Given the description of an element on the screen output the (x, y) to click on. 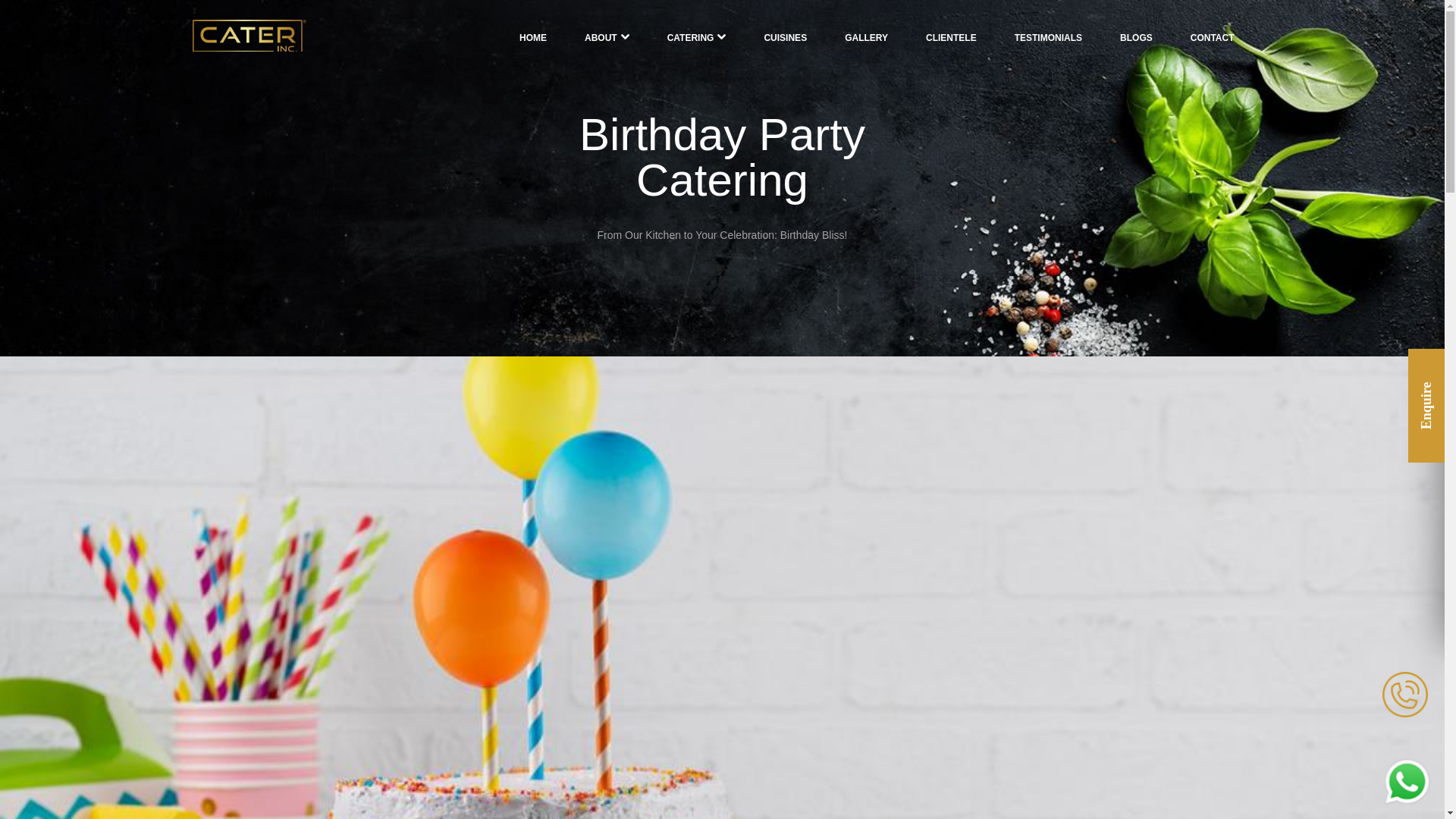
Birthday Party Catering (619, 676)
Corporate Catering (608, 629)
TESTIMONIALS (1047, 37)
House Party Catering (614, 653)
